Given the description of an element on the screen output the (x, y) to click on. 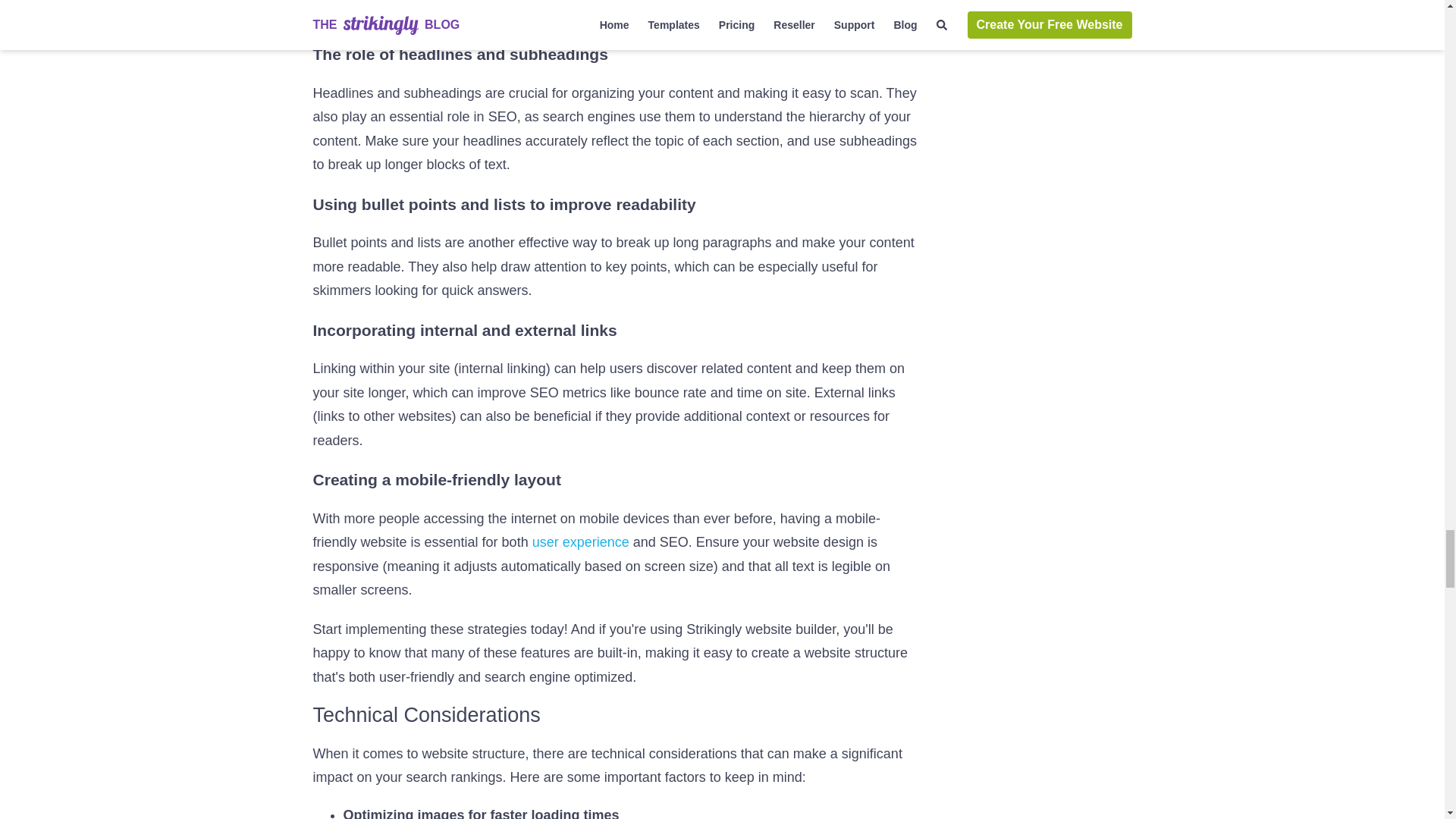
user experience (580, 541)
